Given the description of an element on the screen output the (x, y) to click on. 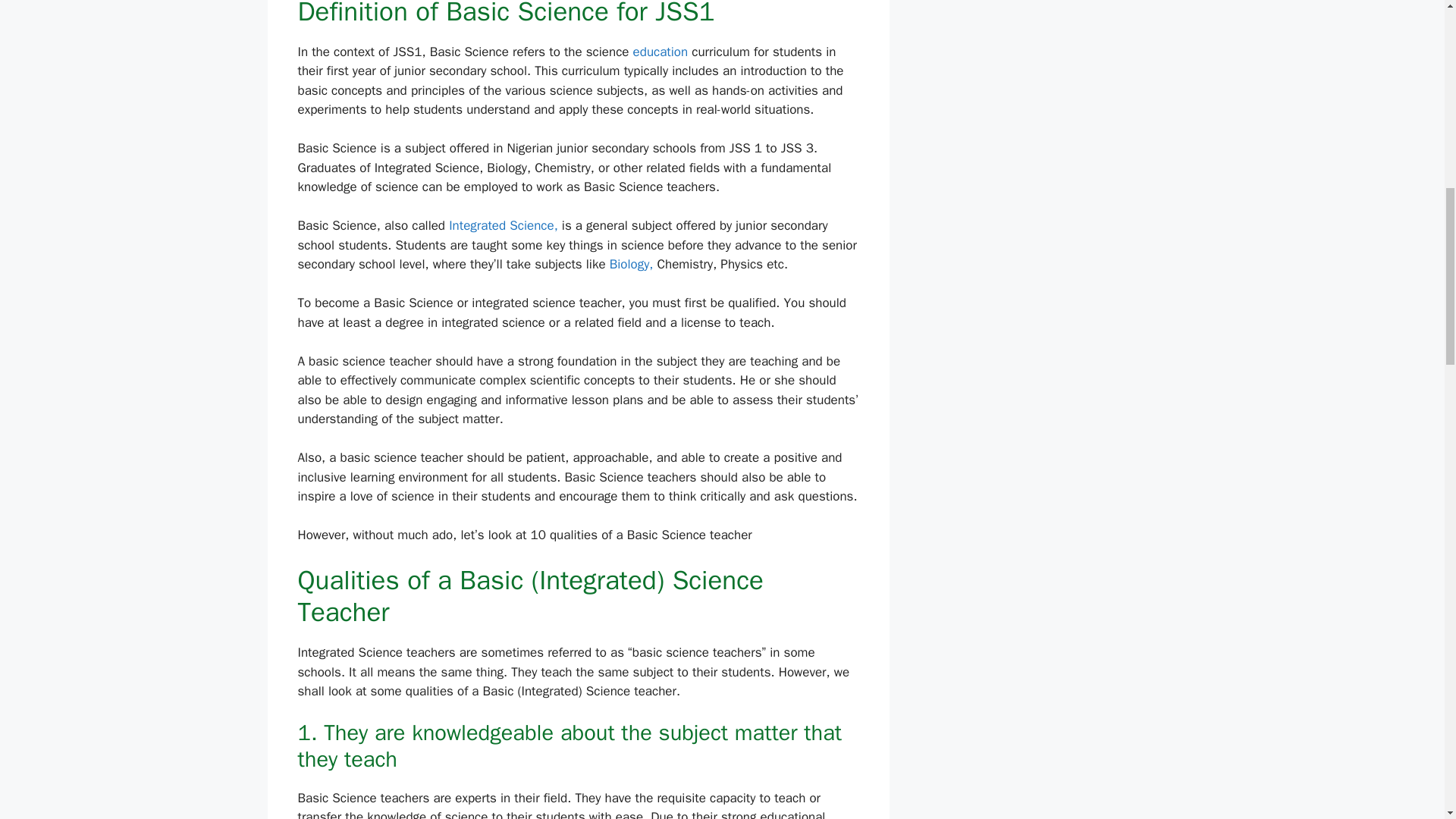
Integrated Science, (502, 225)
Biology, (634, 263)
education (660, 51)
Scroll back to top (1406, 720)
